Given the description of an element on the screen output the (x, y) to click on. 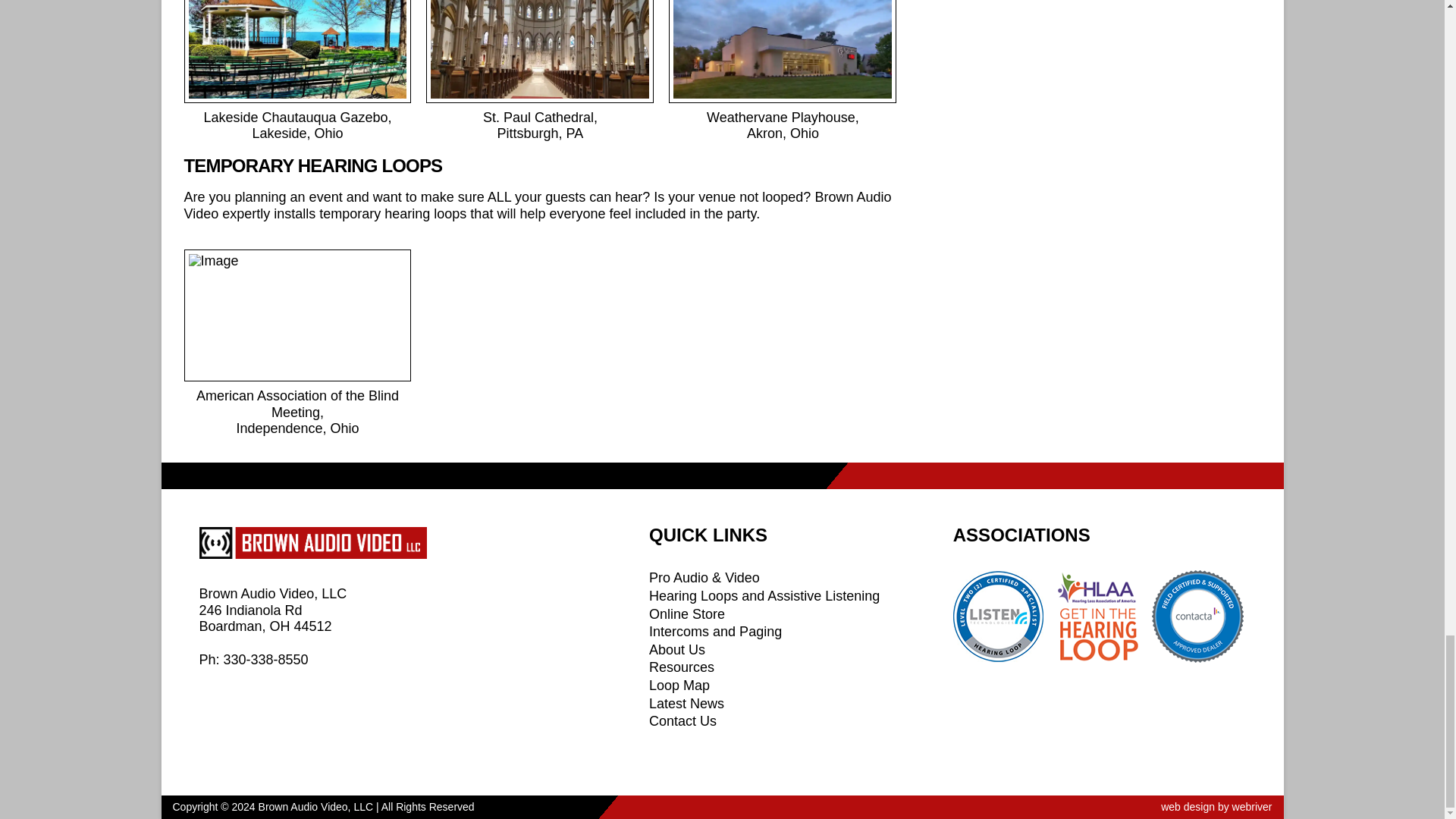
Hearing Loops and Assistive Listening (764, 595)
Resources (681, 667)
Online Store (687, 613)
Intercoms and Paging (715, 631)
Ph: 330-338-8550 (252, 659)
Loop Map (679, 685)
About Us (676, 649)
